Given the description of an element on the screen output the (x, y) to click on. 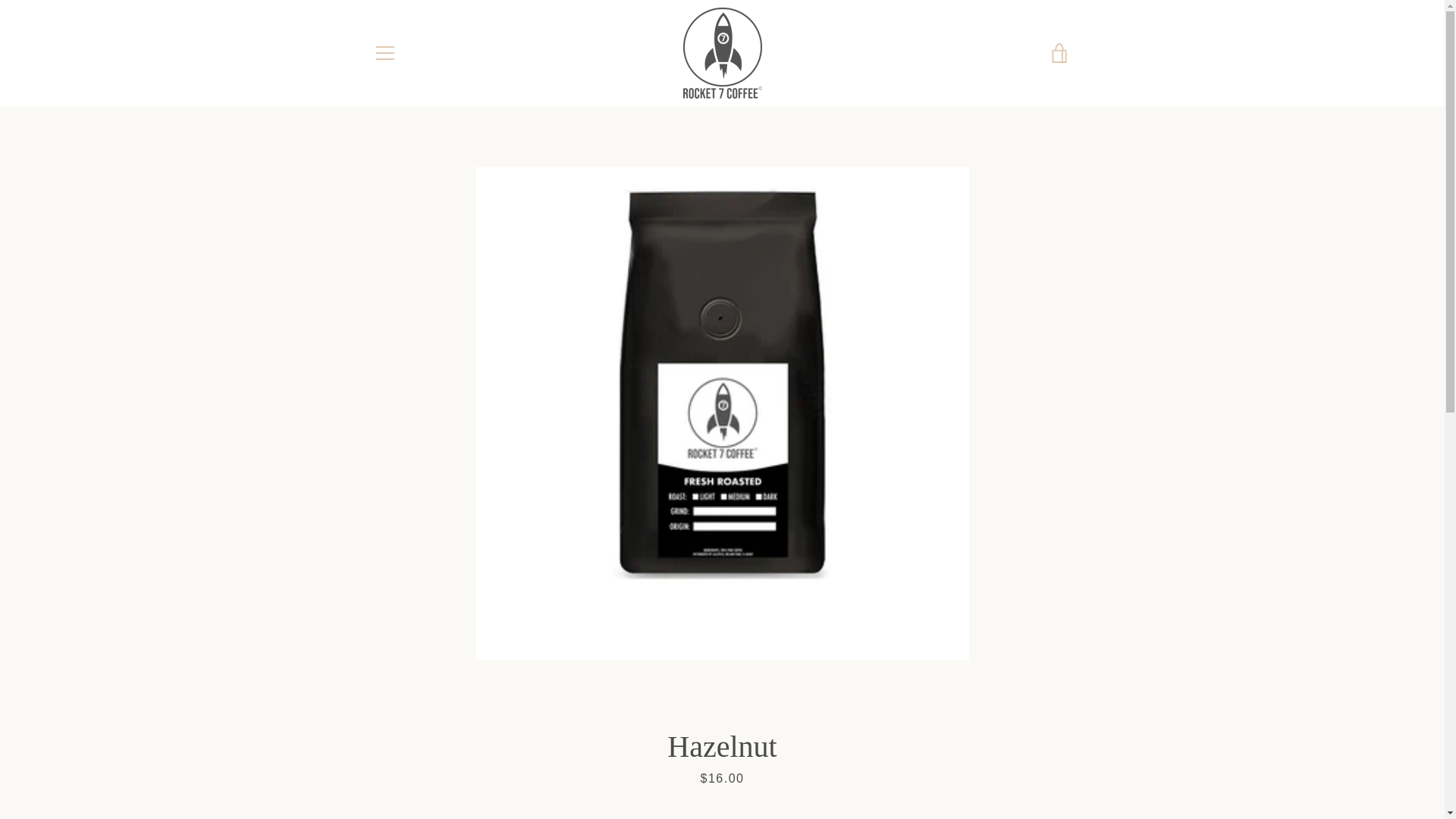
VIEW CART (1059, 53)
MENU (384, 53)
